Given the description of an element on the screen output the (x, y) to click on. 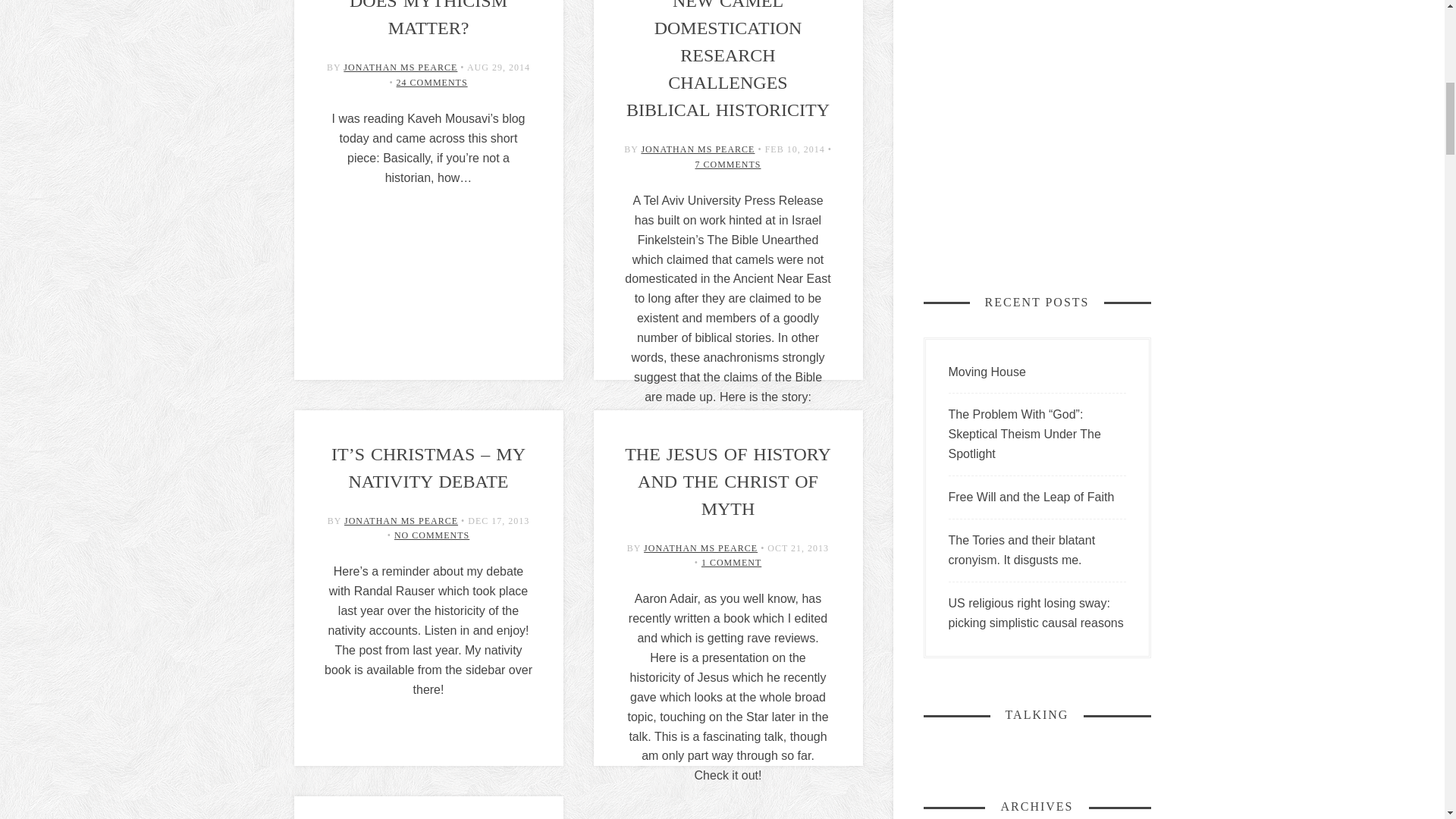
Advertisement (1037, 122)
